Given the description of an element on the screen output the (x, y) to click on. 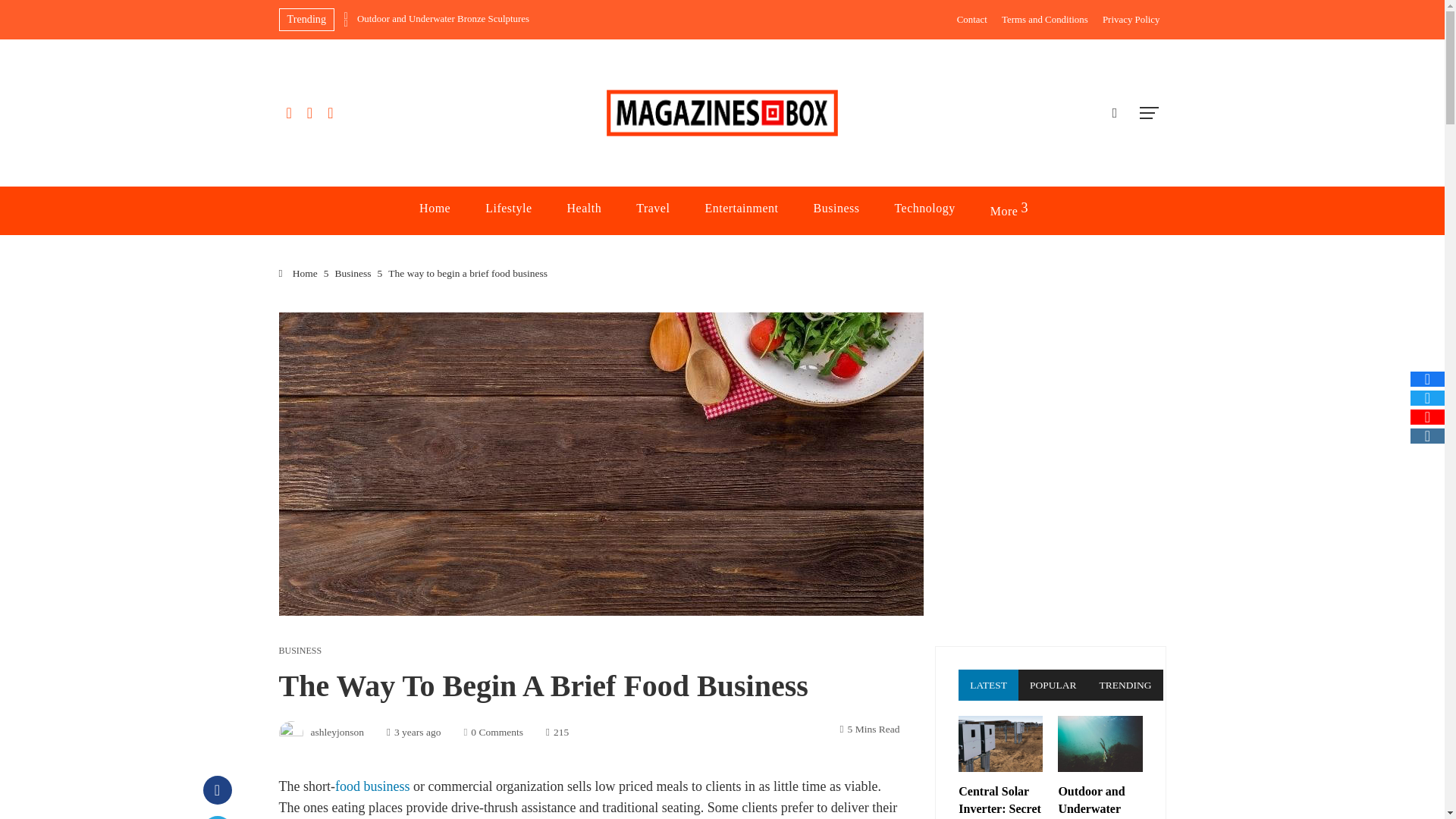
Business (836, 208)
Terms and Conditions (1044, 19)
Lifestyle (508, 208)
Privacy Policy (1131, 19)
Health (584, 208)
More (1008, 210)
Entertainment (740, 208)
Outdoor and Underwater Bronze Sculptures (500, 19)
Travel (652, 208)
Home (434, 208)
